Given the description of an element on the screen output the (x, y) to click on. 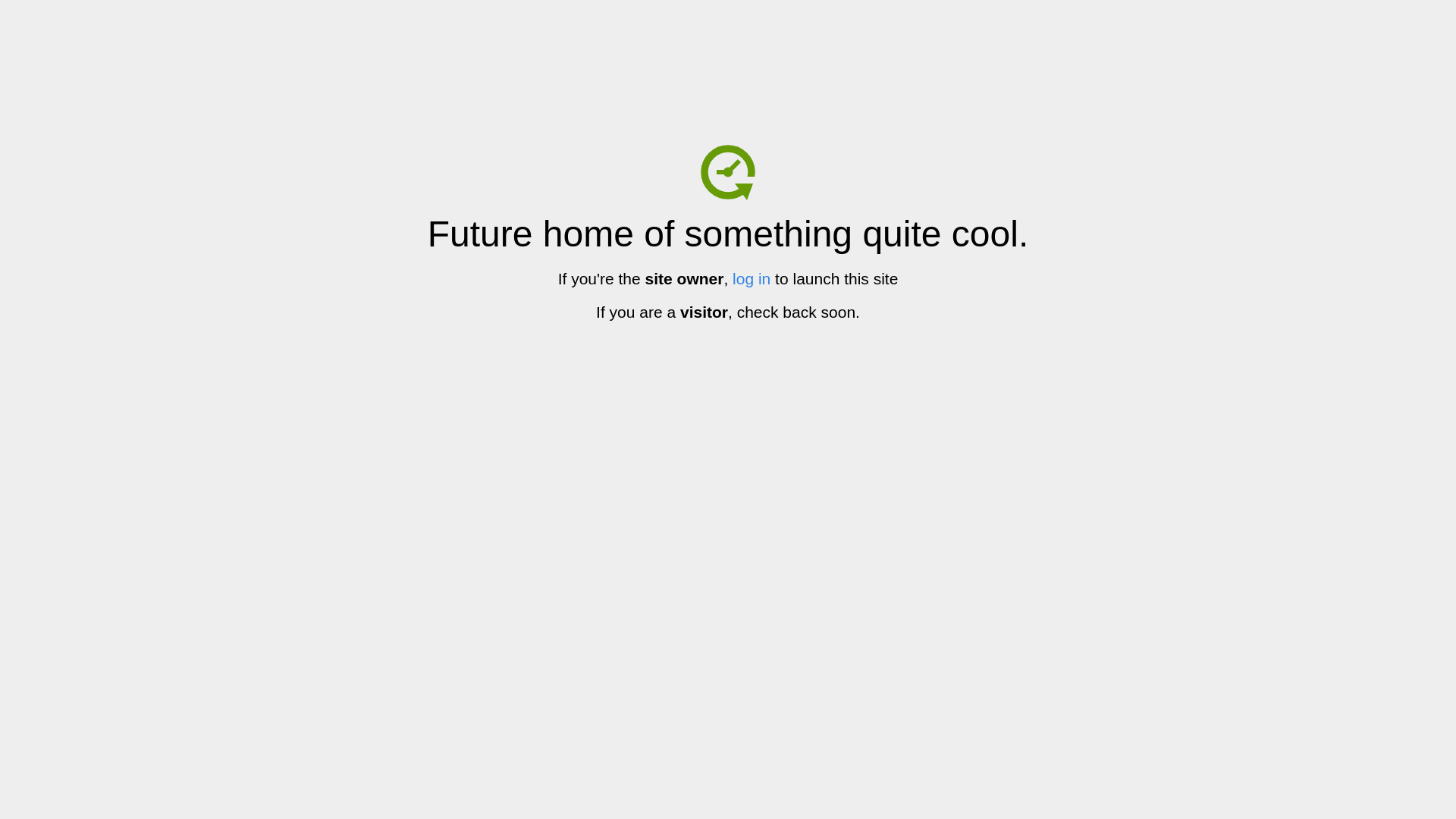
log in Element type: text (751, 278)
